Given the description of an element on the screen output the (x, y) to click on. 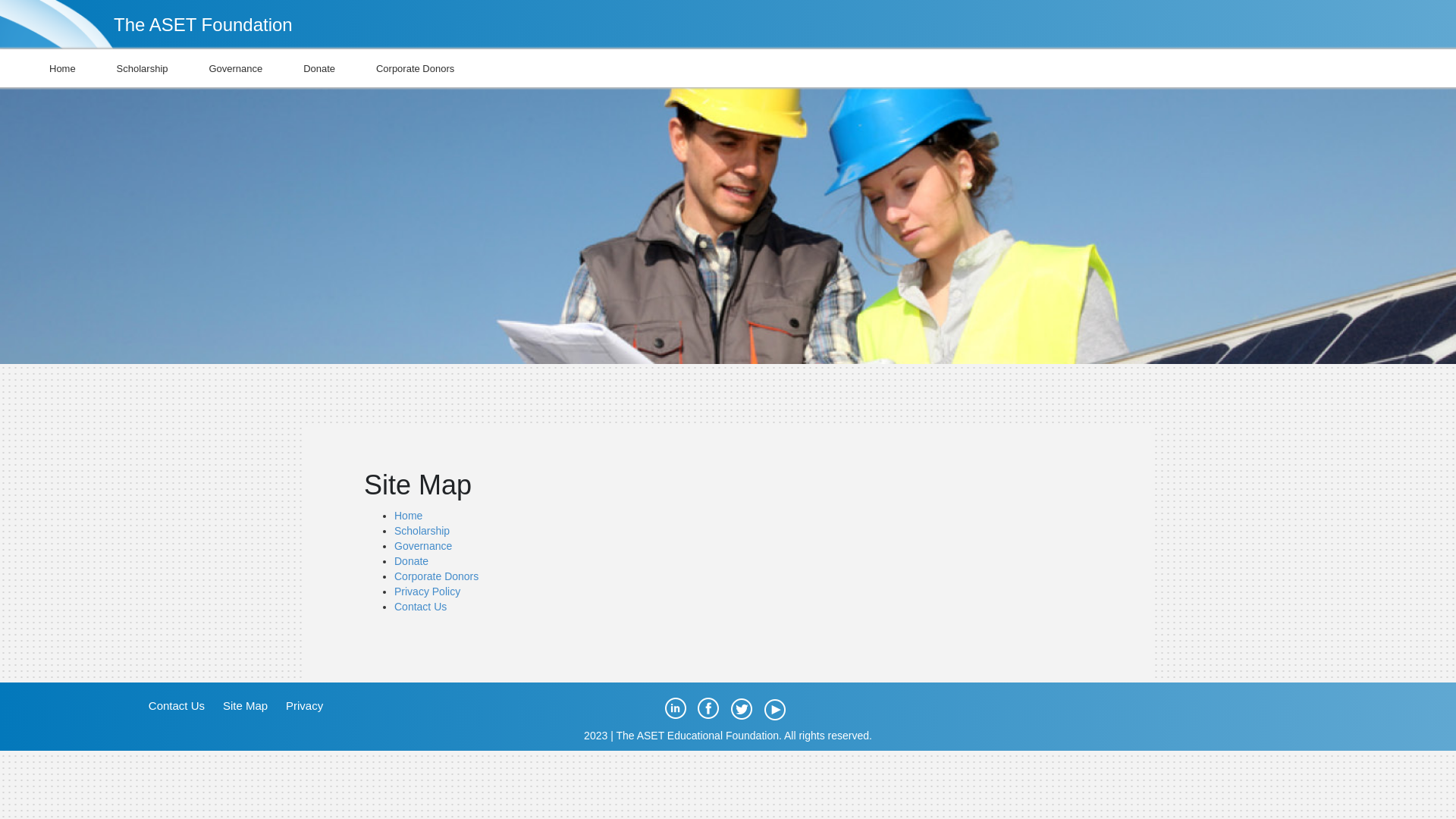
Twitter Element type: text (741, 708)
Contact Us Element type: text (176, 705)
Governance Element type: text (235, 68)
Corporate Donors Element type: text (436, 576)
Site Map Element type: text (244, 705)
Facebook Element type: text (707, 708)
Linkedin Element type: text (674, 708)
Corporate Donors Element type: text (415, 68)
Play Element type: text (774, 708)
Home Element type: text (408, 515)
Donate Element type: text (319, 68)
Scholarship Element type: text (421, 530)
Home Element type: text (62, 68)
Scholarship Element type: text (142, 68)
Governance Element type: text (422, 545)
Donate Element type: text (411, 561)
Privacy Policy Element type: text (427, 591)
Privacy Element type: text (304, 705)
Contact Us Element type: text (420, 606)
